Given the description of an element on the screen output the (x, y) to click on. 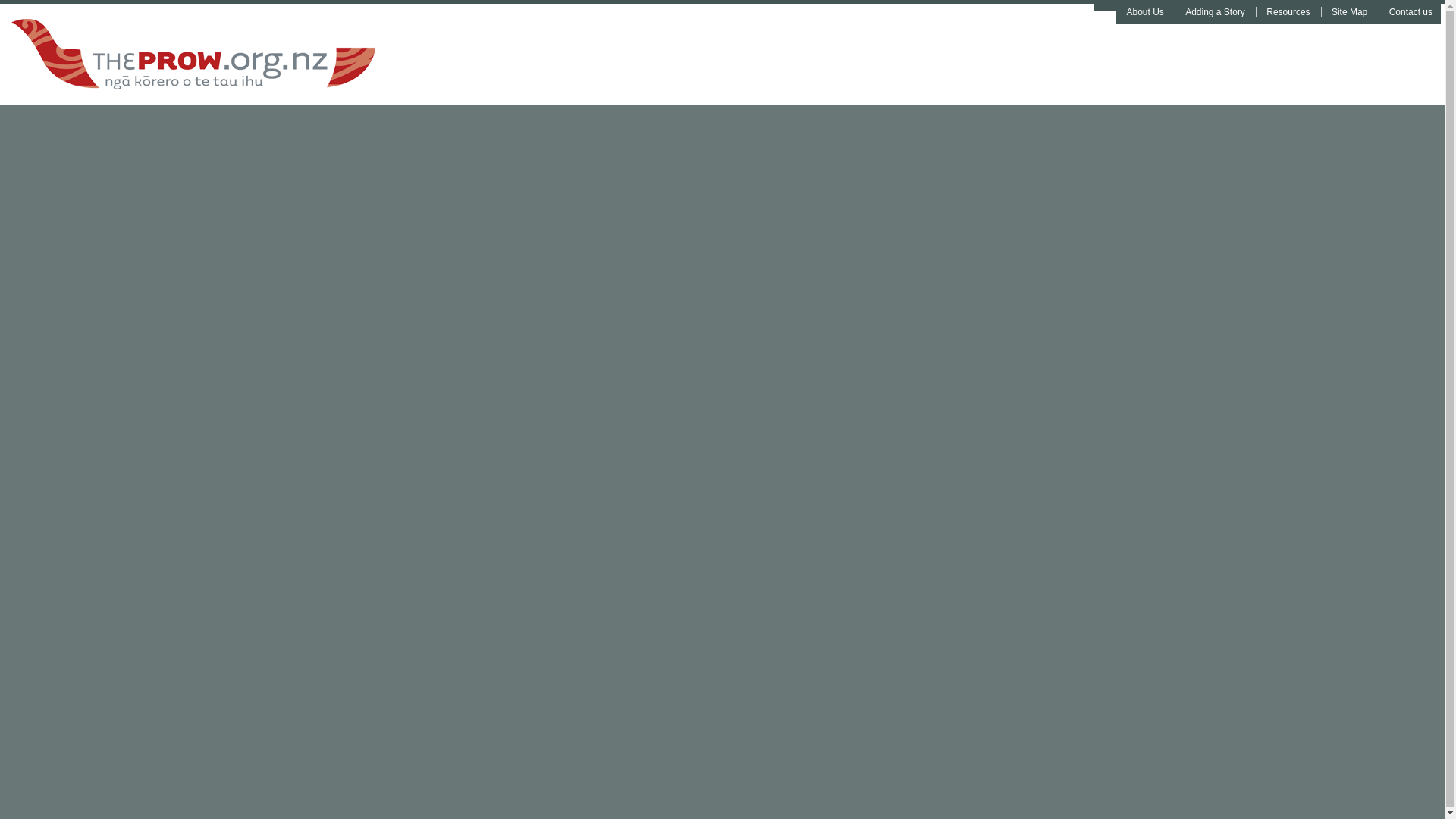
Site Map (1349, 11)
The Prow - Home Page (343, 53)
Resources (1287, 11)
Contact us (1410, 11)
Skip to Content (1104, 5)
About Us (1145, 11)
Adding a Story (1214, 11)
